Given the description of an element on the screen output the (x, y) to click on. 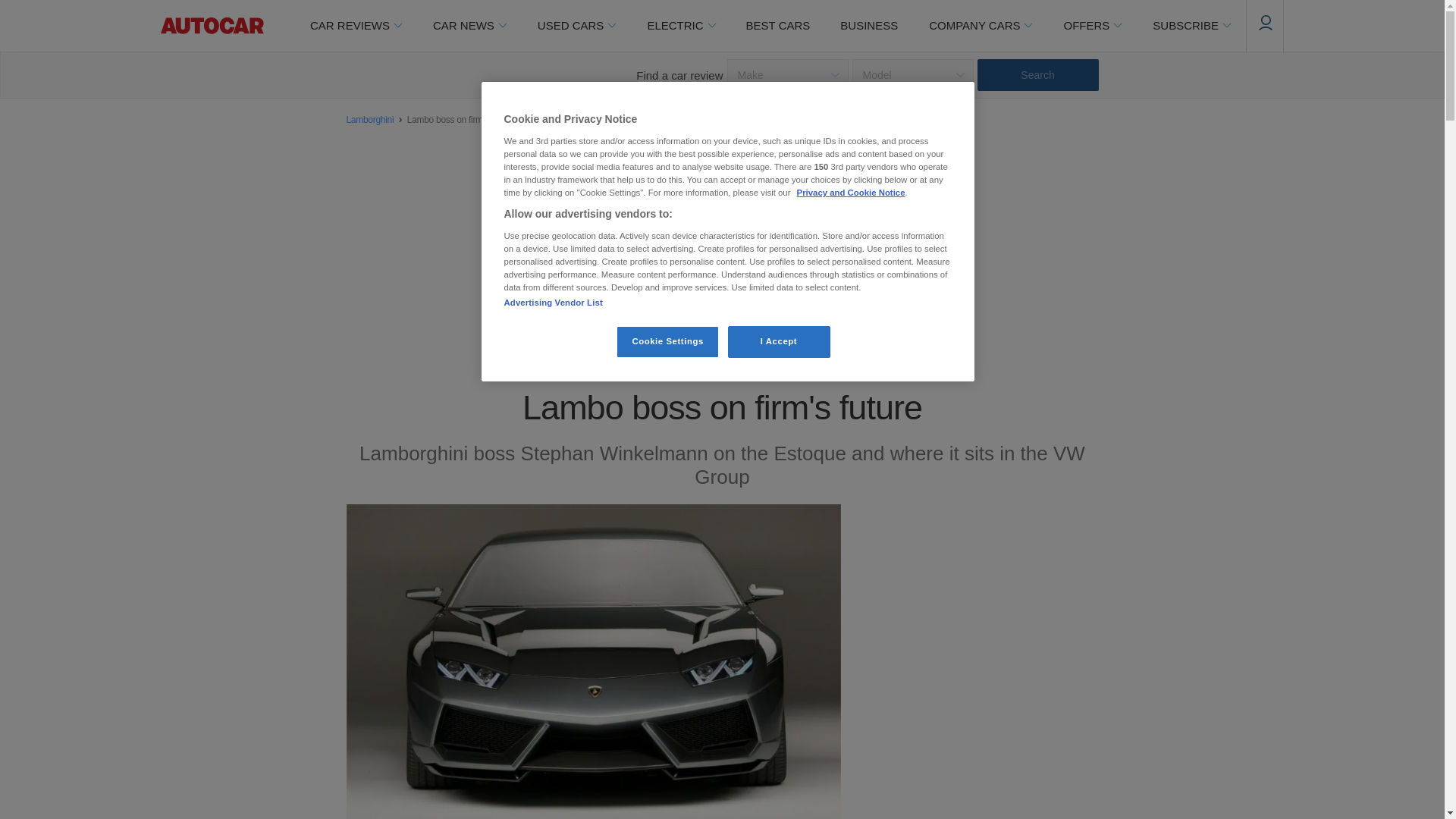
SUBSCRIBE (1191, 26)
Autocar Electric (680, 26)
Autocar Business news, insight and opinion (868, 26)
OFFERS (1091, 26)
ELECTRIC (680, 26)
Search (1036, 74)
COMPANY CARS (979, 26)
USED CARS (576, 26)
BEST CARS (777, 26)
CAR REVIEWS (355, 26)
CAR NEWS (468, 26)
BUSINESS (868, 26)
Search (1036, 74)
Top 10 cars by segment (777, 26)
Home (211, 25)
